Given the description of an element on the screen output the (x, y) to click on. 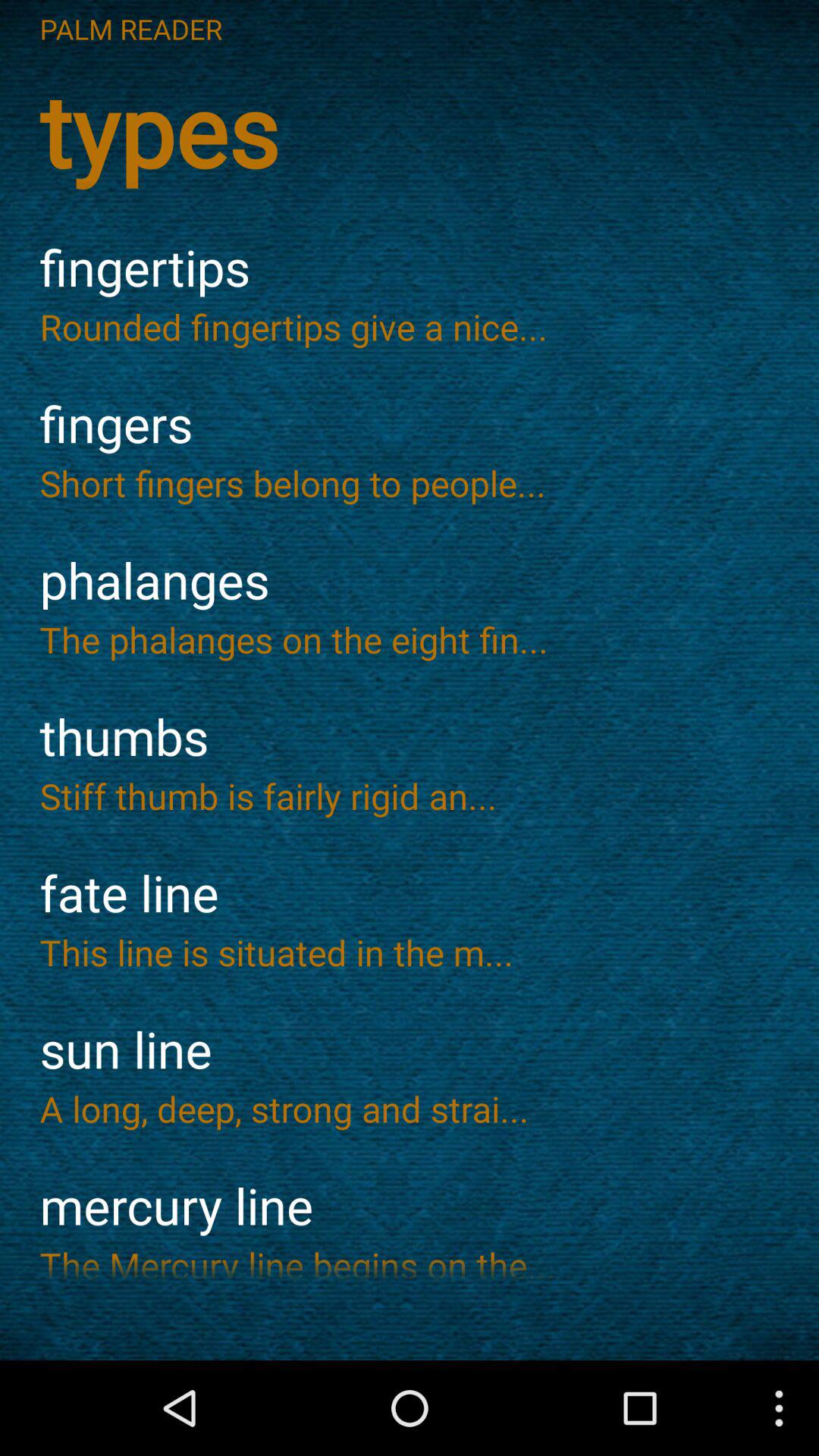
turn off the item below the stiff thumb is (409, 893)
